Given the description of an element on the screen output the (x, y) to click on. 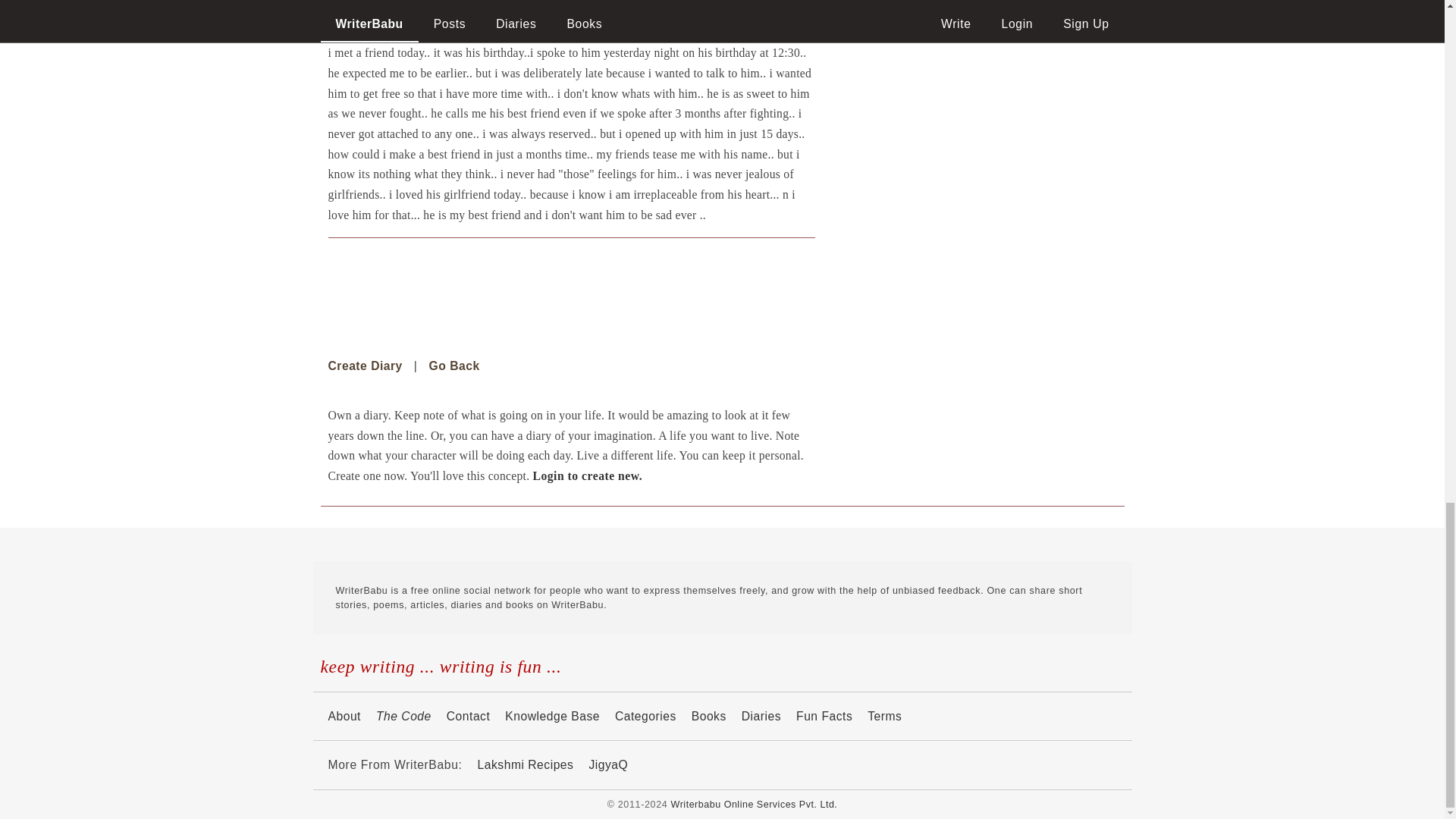
Writerbabu Online Services Pvt. Ltd. (754, 804)
Browse through the categories for posts (645, 716)
Create Diary (364, 365)
Contact Us (468, 716)
Some real time facts about WriterBabu (823, 716)
Browse through all the books published on WriterBabu (708, 716)
The WriterBabu Code (343, 716)
Read Open Diaries: what writerbabus are upto these days (760, 716)
The Code (402, 716)
Login to create new. (587, 475)
